Given the description of an element on the screen output the (x, y) to click on. 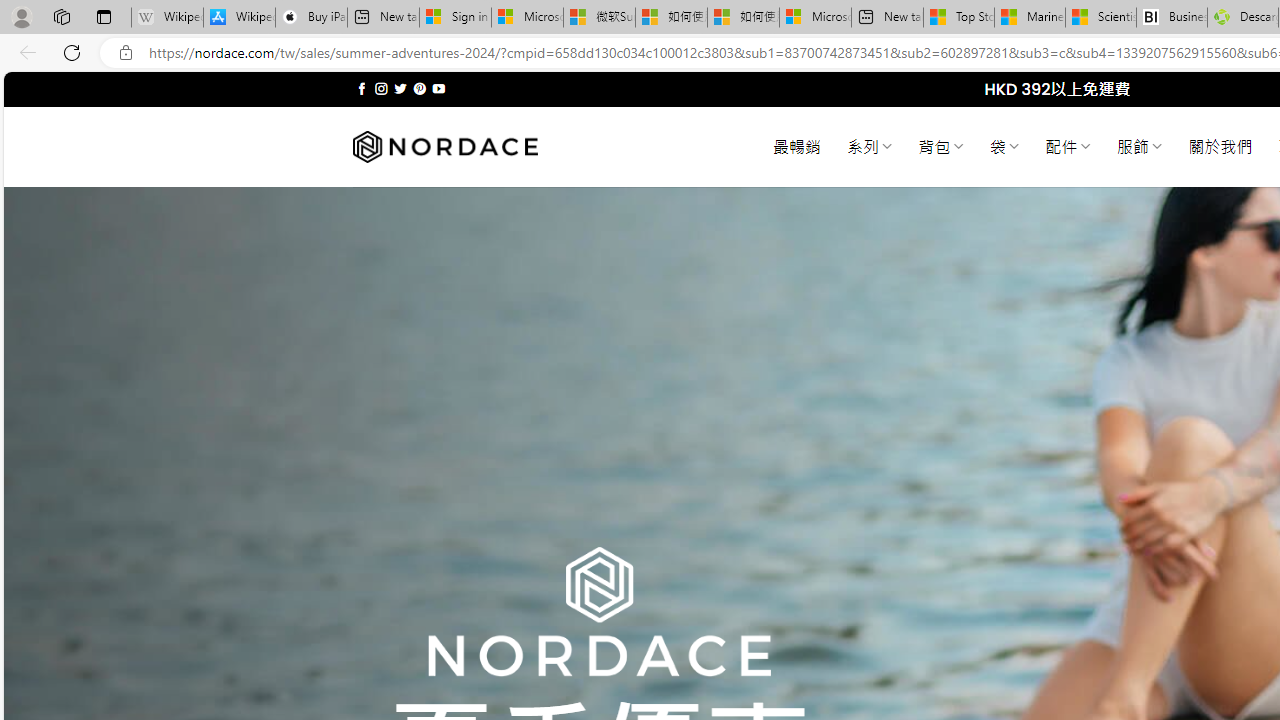
Marine life - MSN (1029, 17)
Follow on Instagram (381, 88)
Top Stories - MSN (959, 17)
